Given the description of an element on the screen output the (x, y) to click on. 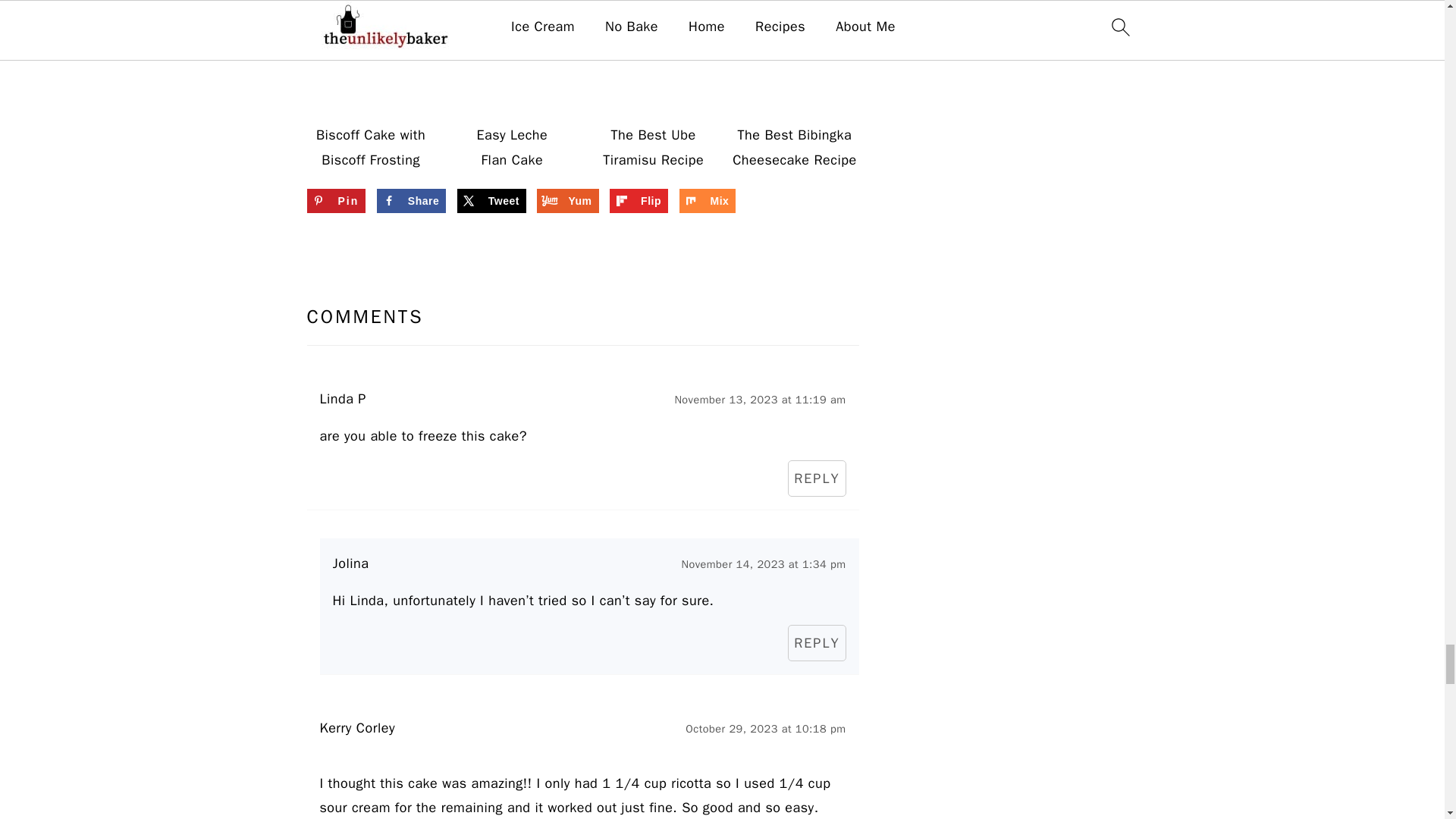
Share on Facebook (411, 200)
Share on Flipboard (639, 200)
Save to Pinterest (335, 200)
Share on Yummly (567, 200)
Share on Mix (707, 200)
Share on X (491, 200)
